Given the description of an element on the screen output the (x, y) to click on. 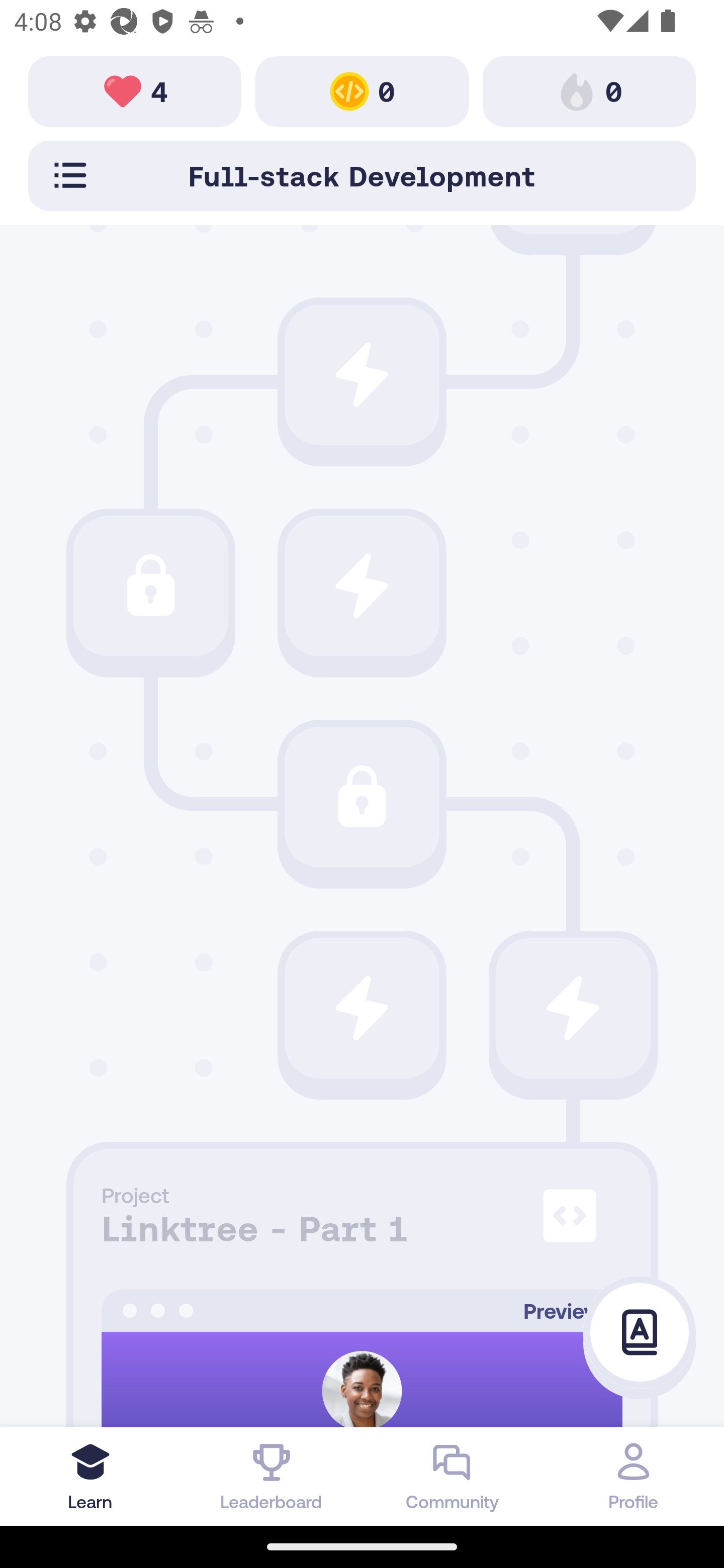
Path Toolbar Image 4 (134, 90)
Path Toolbar Image 0 (361, 90)
Path Toolbar Image 0 (588, 90)
Path Toolbar Selector Full-stack Development (361, 175)
Path Icon (361, 374)
Path Icon (150, 585)
Path Icon (361, 585)
Path Icon (361, 796)
Path Icon (361, 1007)
Path Icon (572, 1007)
Glossary Icon (639, 1332)
Leaderboard (271, 1475)
Community (452, 1475)
Profile (633, 1475)
